Given the description of an element on the screen output the (x, y) to click on. 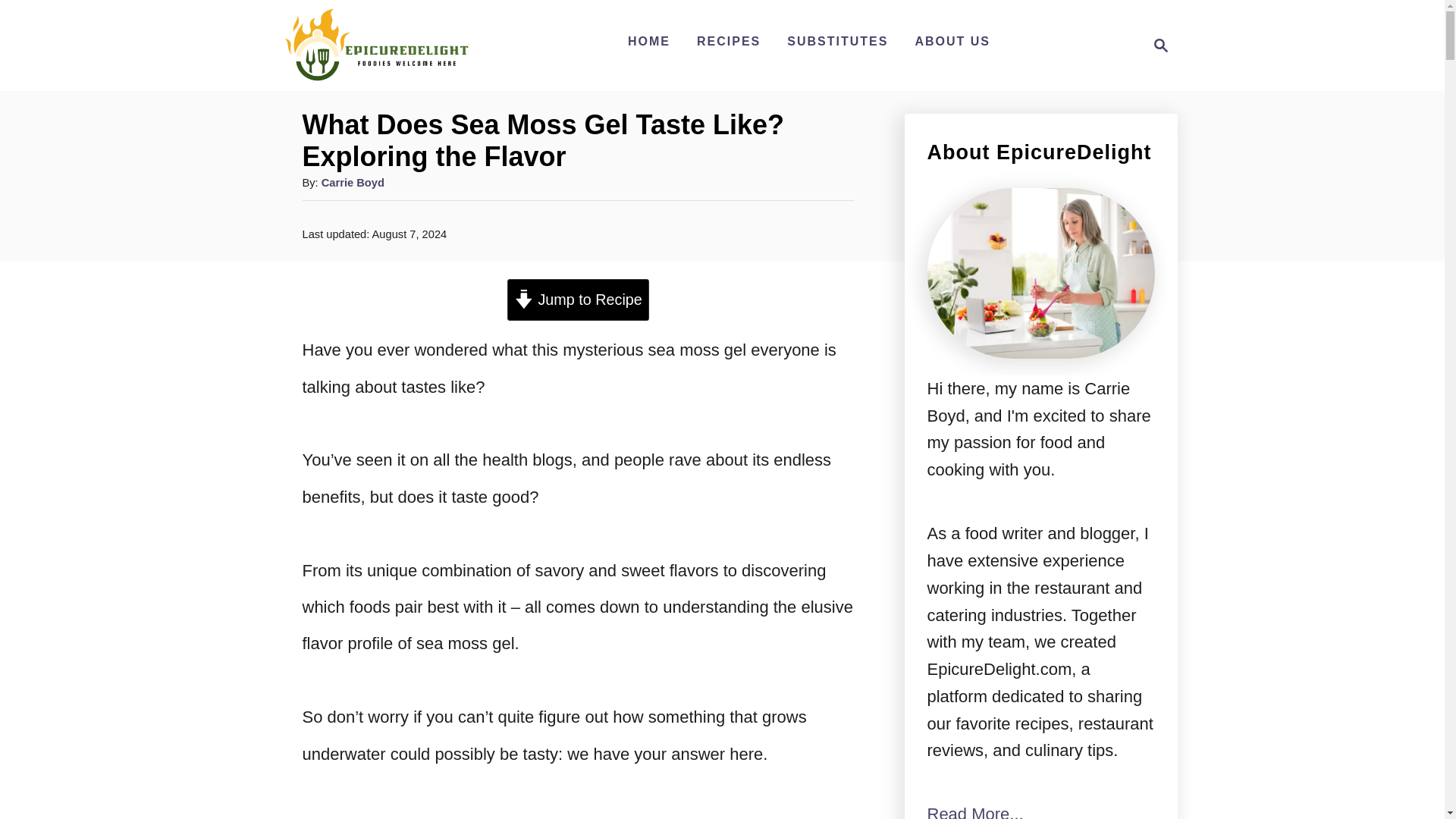
SUBSTITUTES (1155, 45)
HOME (836, 41)
Carrie Boyd (649, 41)
EpicureDelight (352, 182)
RECIPES (376, 45)
Jump to Recipe (728, 41)
Magnifying Glass (577, 300)
ABOUT US (1160, 45)
